Given the description of an element on the screen output the (x, y) to click on. 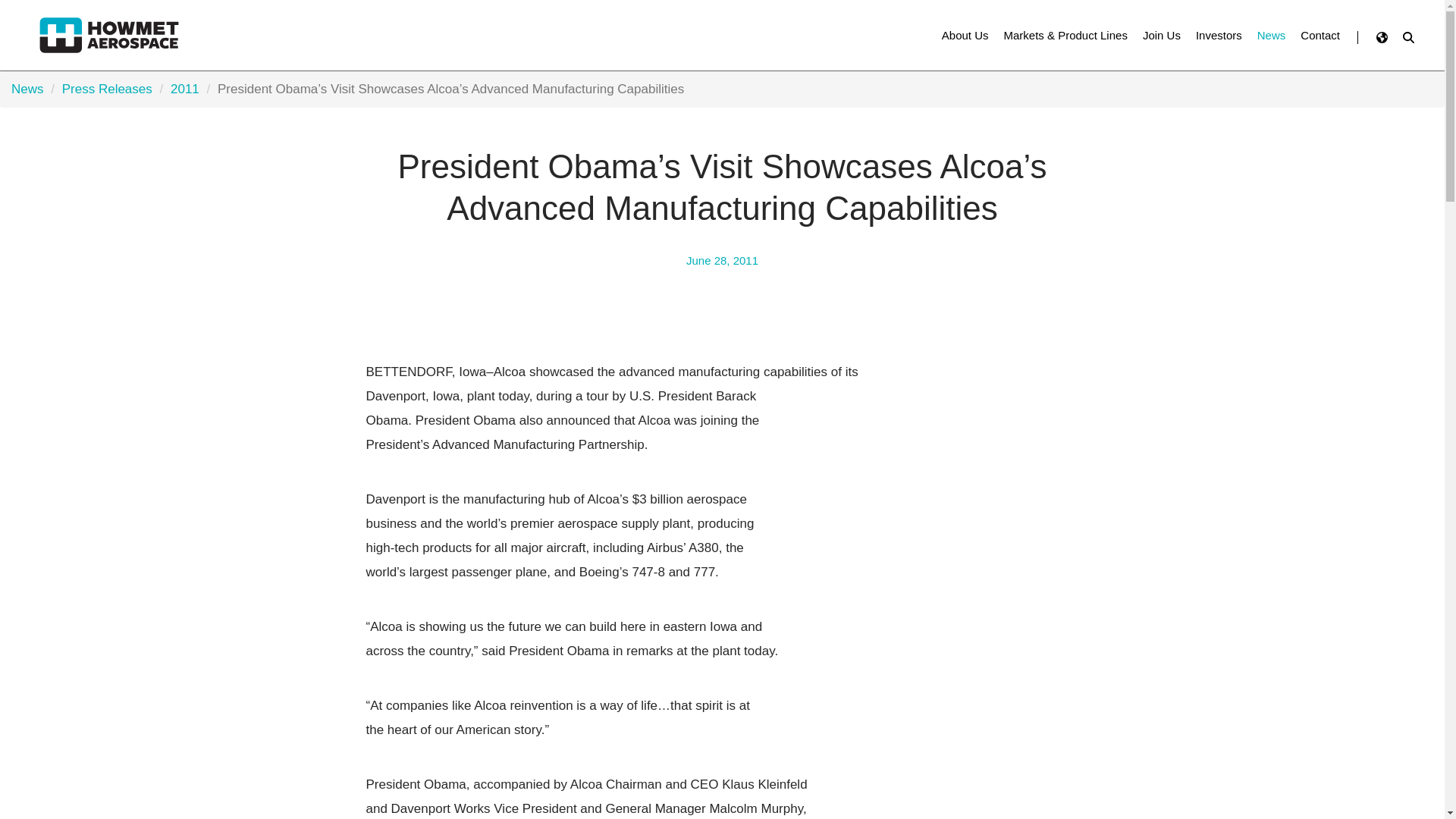
About Us (965, 34)
Investors (1218, 34)
Join Us (1161, 34)
